Given the description of an element on the screen output the (x, y) to click on. 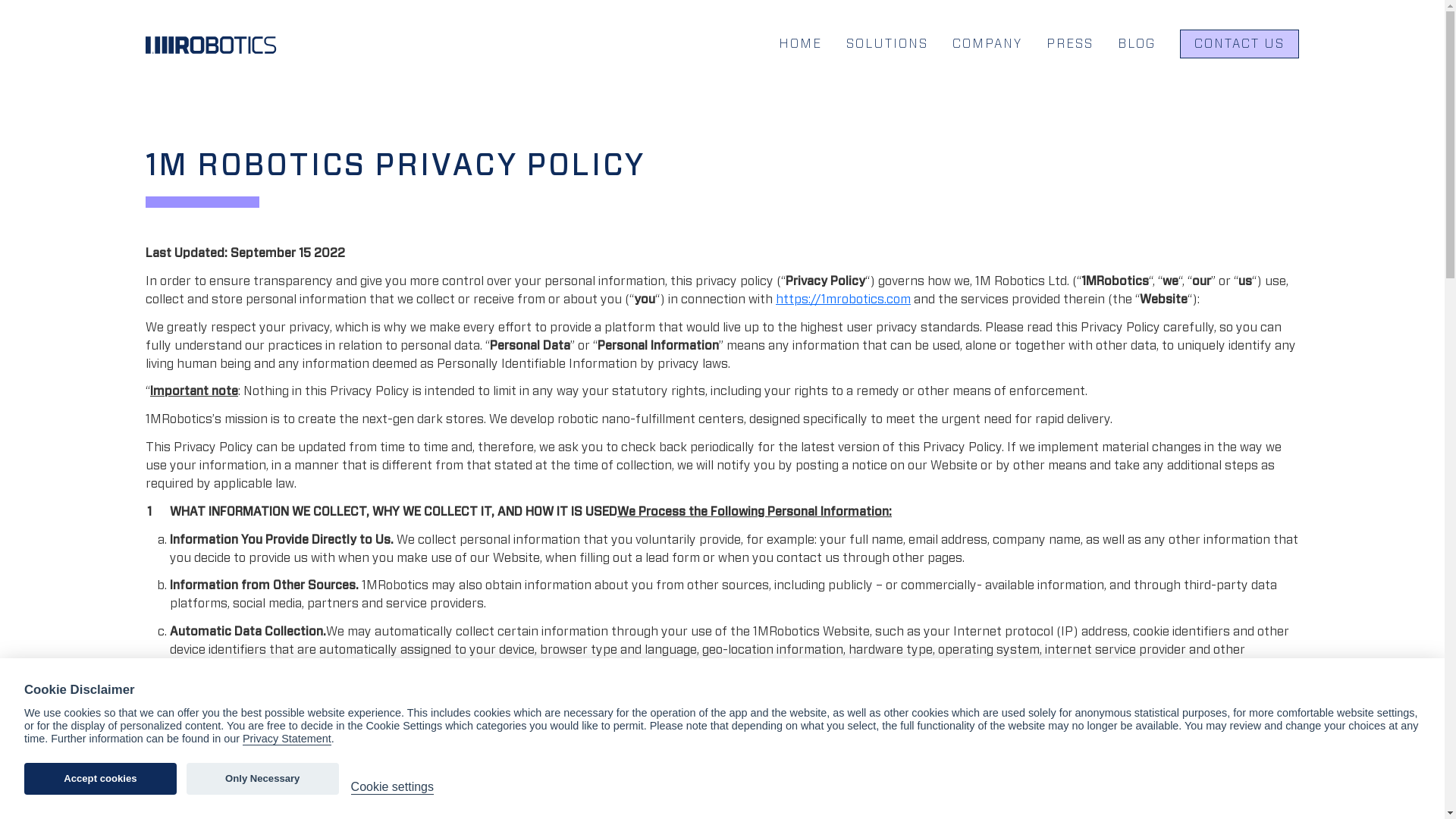
BLOG Element type: text (1136, 43)
SOLUTIONS Element type: text (887, 43)
Only Necessary Element type: text (262, 778)
Accessibility button Element type: hover (15, 755)
HOME Element type: text (800, 43)
Privacy Statement Element type: text (286, 738)
CONTACT US Element type: text (1239, 43)
Accept cookies Element type: text (100, 778)
https://1mrobotics.com Element type: text (842, 299)
PRESS Element type: text (1069, 43)
Cookie settings Element type: text (392, 786)
COMPANY Element type: text (987, 43)
